Given the description of an element on the screen output the (x, y) to click on. 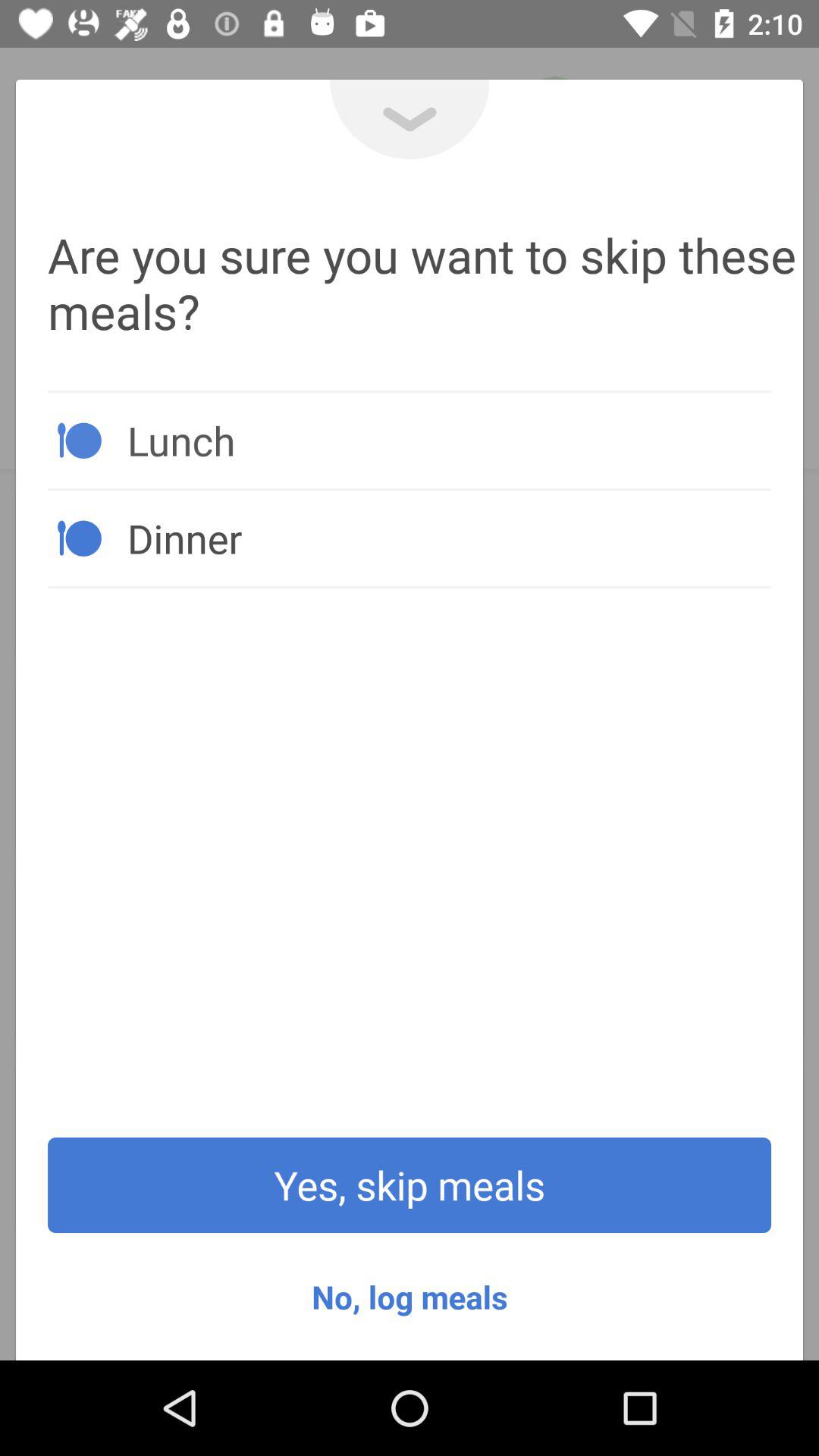
launch lunch item (449, 440)
